Given the description of an element on the screen output the (x, y) to click on. 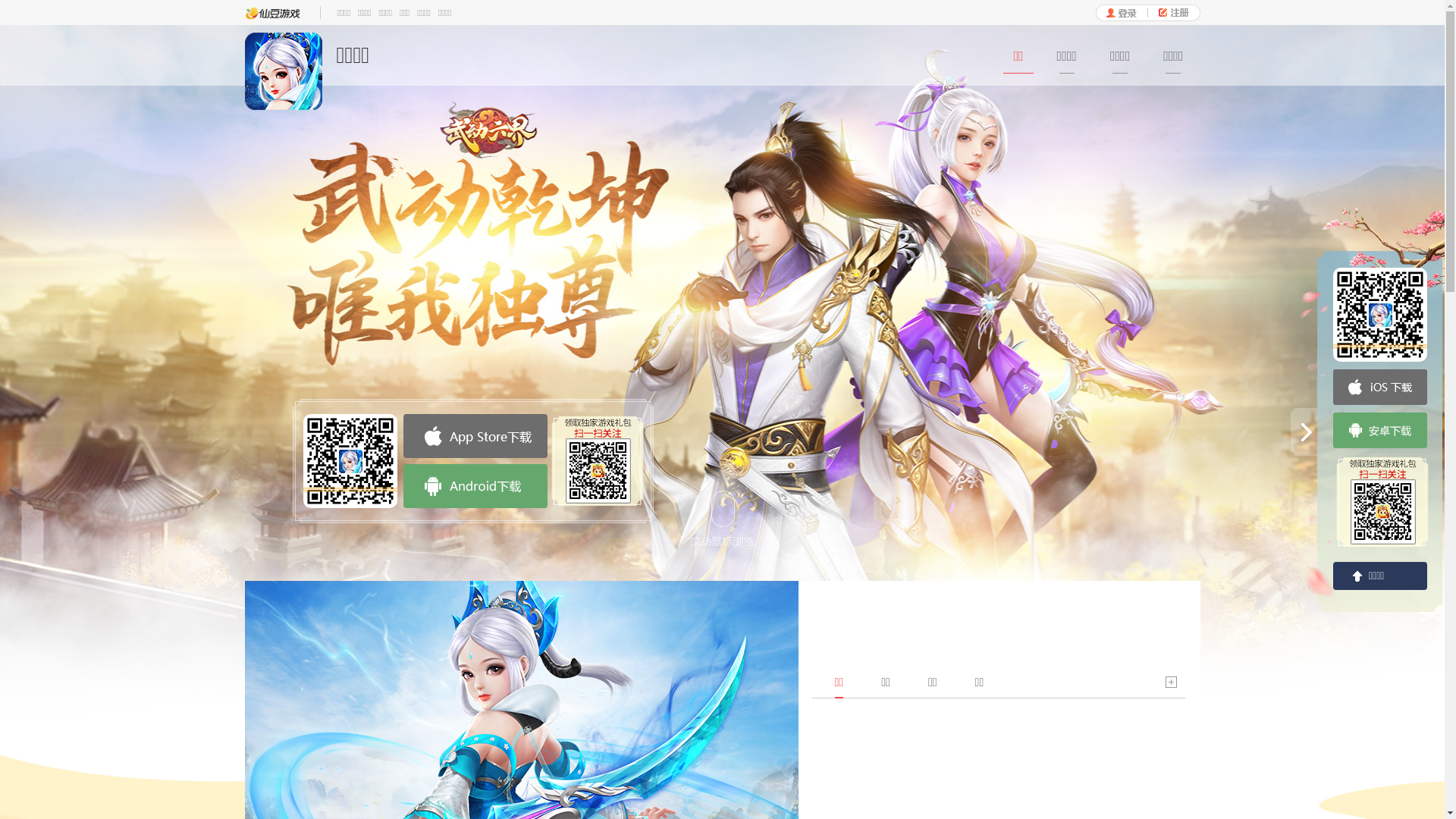
https://www.1122wan.com/game/download/wd?user_id=0 Element type: hover (1380, 314)
https://www.1122wan.com/game/download/wd?user_id=0 Element type: hover (350, 461)
